Given the description of an element on the screen output the (x, y) to click on. 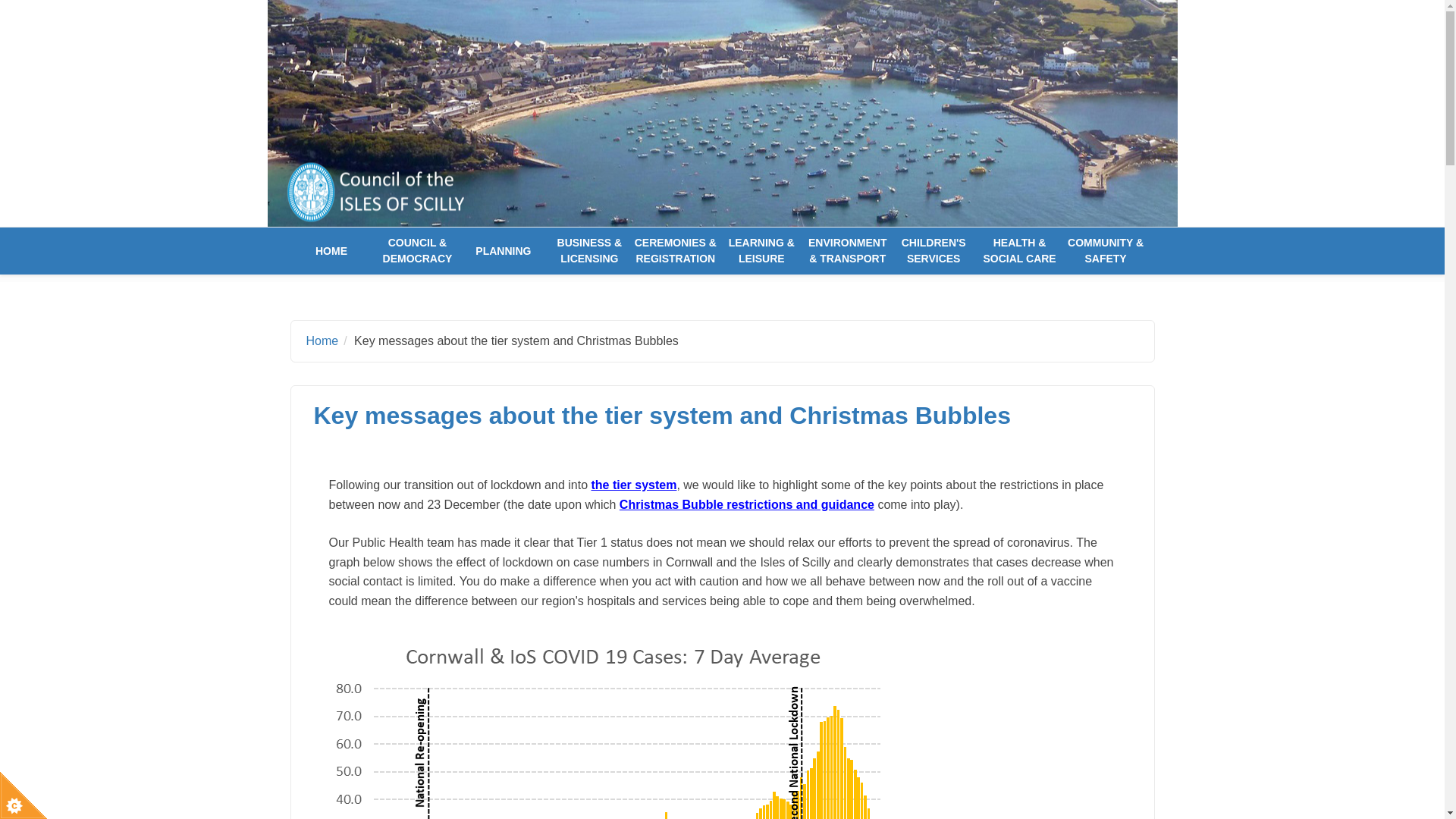
Christmas Bubble restrictions and guidance (747, 504)
the tier system (634, 484)
HOME (330, 250)
CHILDREN'S SERVICES (933, 250)
Home (322, 340)
PLANNING (502, 250)
